Given the description of an element on the screen output the (x, y) to click on. 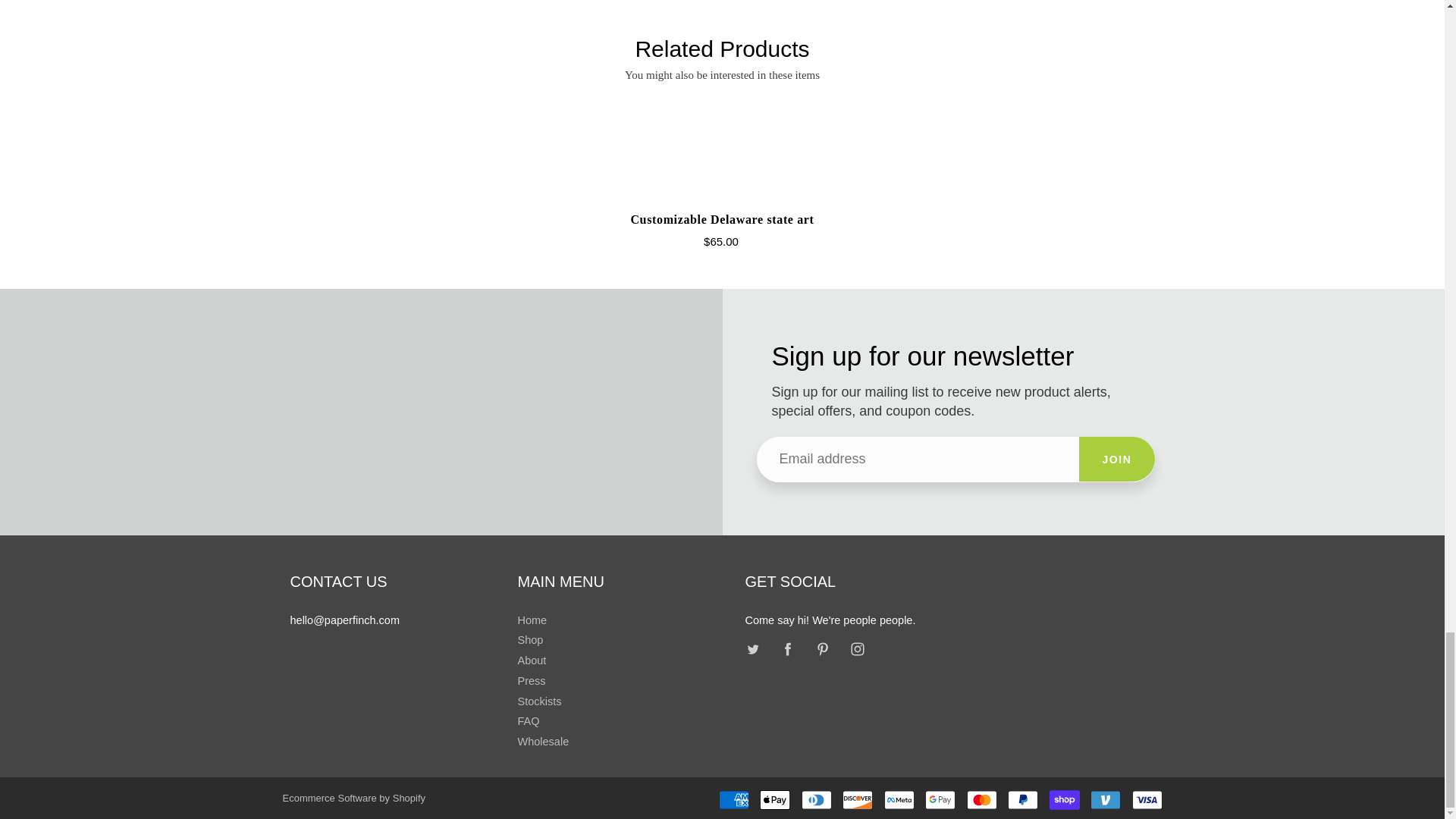
Shop Pay (1064, 799)
Visa (1146, 799)
Meta Pay (898, 799)
PayPal (1022, 799)
Diners Club (816, 799)
Apple Pay (775, 799)
American Express (734, 799)
Google Pay (939, 799)
Discover (857, 799)
Venmo (1105, 799)
Mastercard (981, 799)
